Given the description of an element on the screen output the (x, y) to click on. 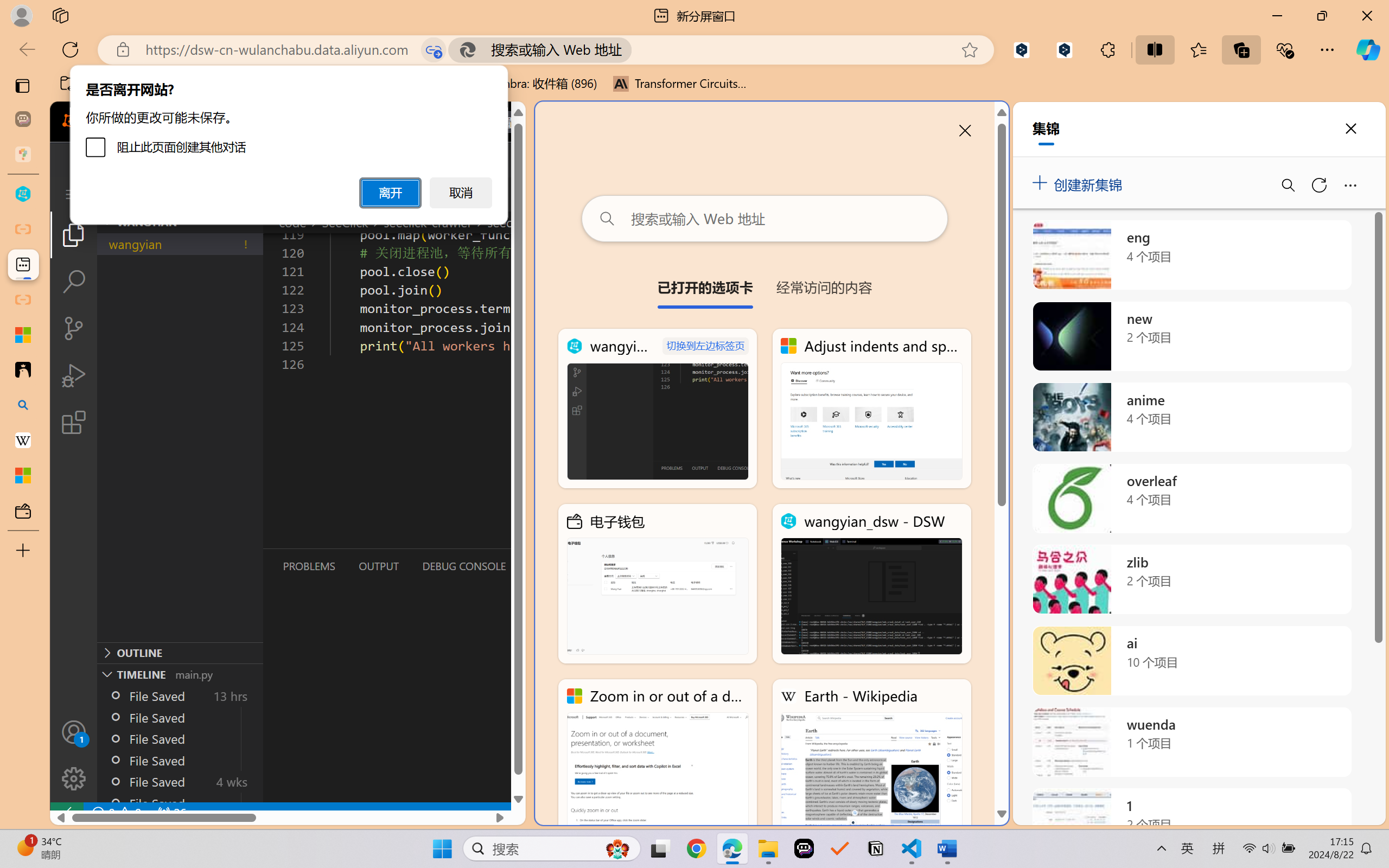
Earth - Wikipedia (22, 440)
Manage (73, 755)
Debug Console (Ctrl+Shift+Y) (463, 565)
